Given the description of an element on the screen output the (x, y) to click on. 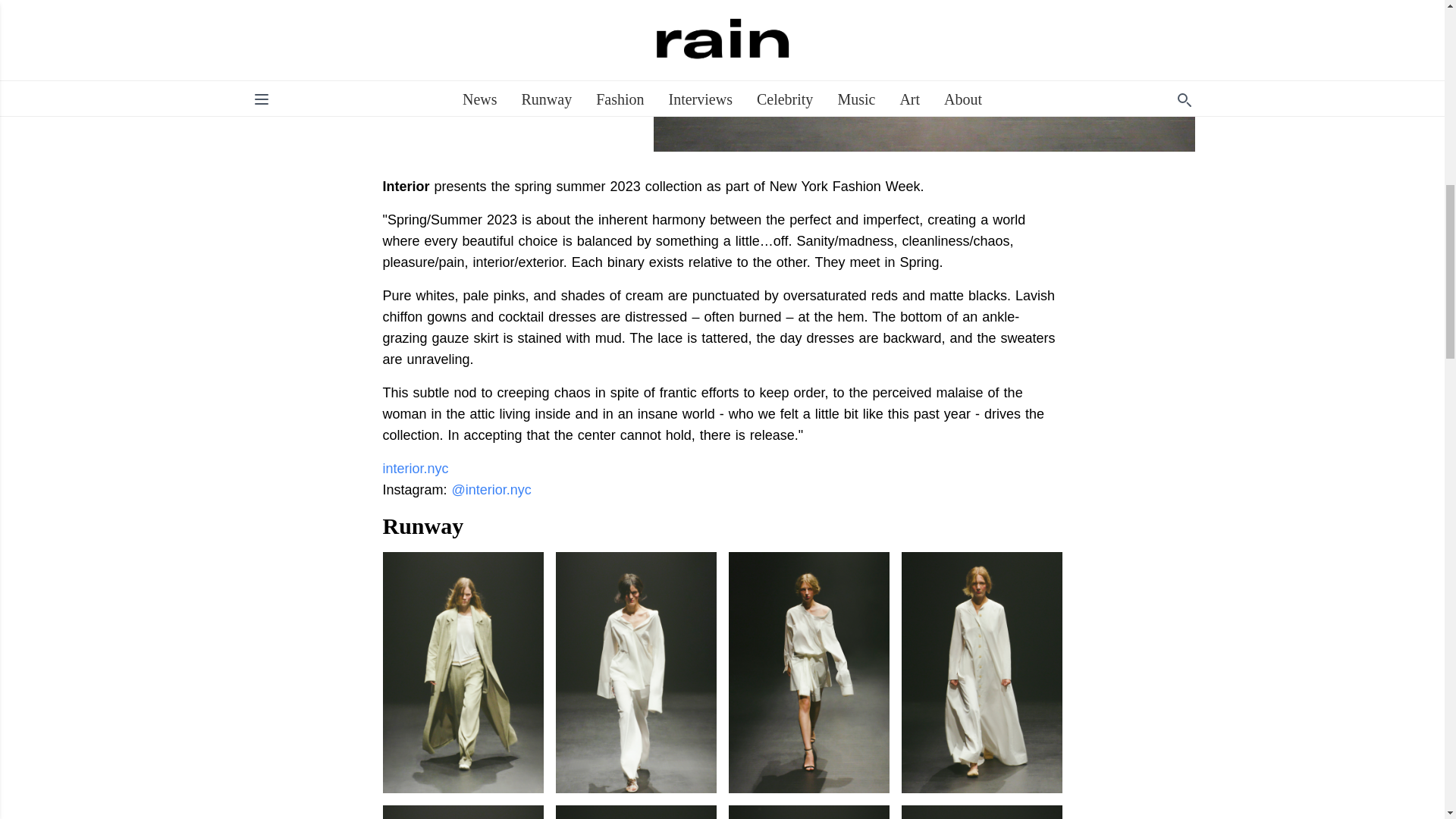
interior.nyc (414, 468)
